Given the description of an element on the screen output the (x, y) to click on. 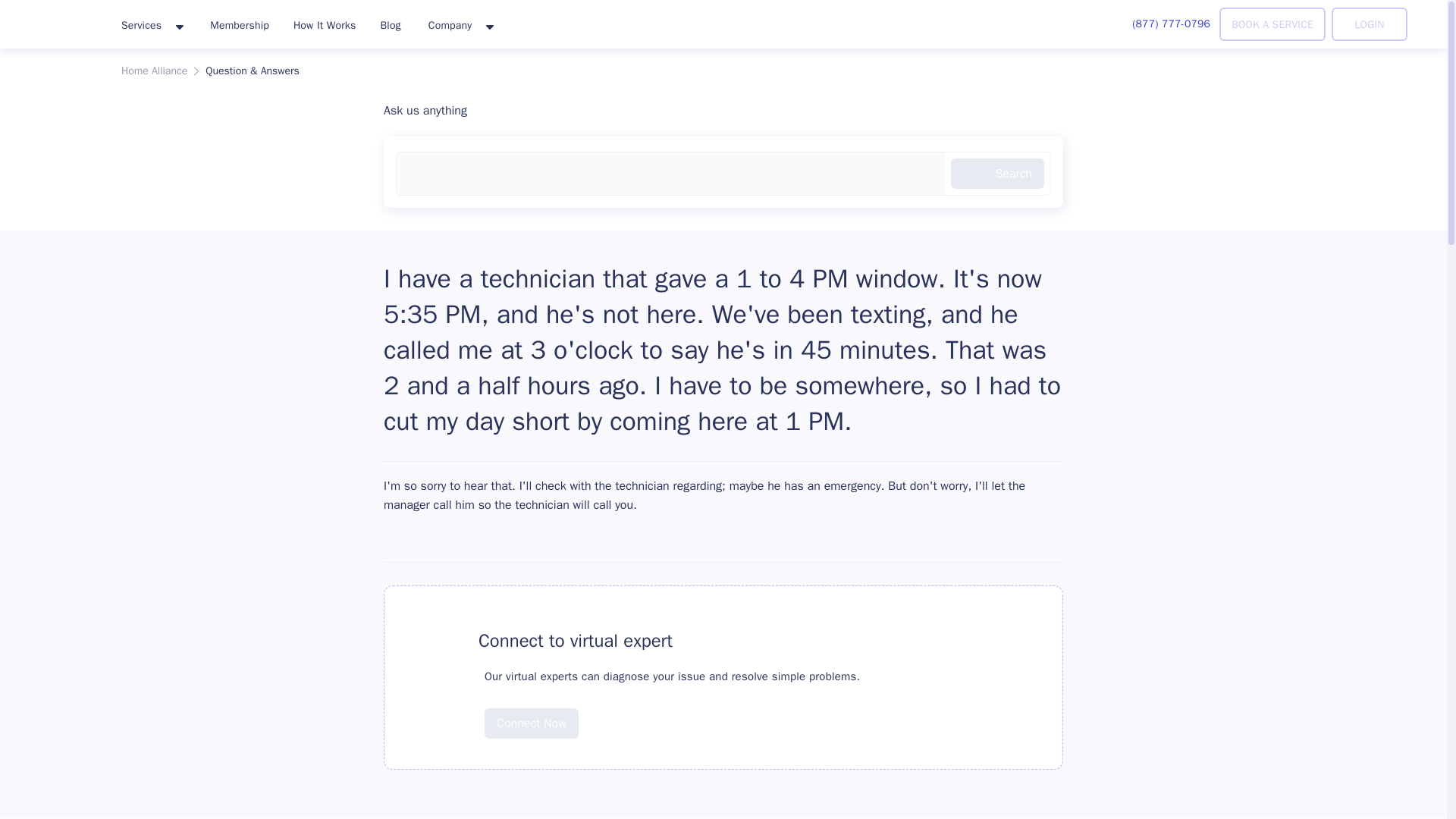
Search (996, 173)
Home Alliance (153, 70)
Services (151, 25)
How It Works (324, 24)
Company (460, 25)
LOGIN (1369, 23)
Connect Now (531, 723)
FAQ (438, 640)
Connect Now (531, 711)
Membership (239, 24)
